Given the description of an element on the screen output the (x, y) to click on. 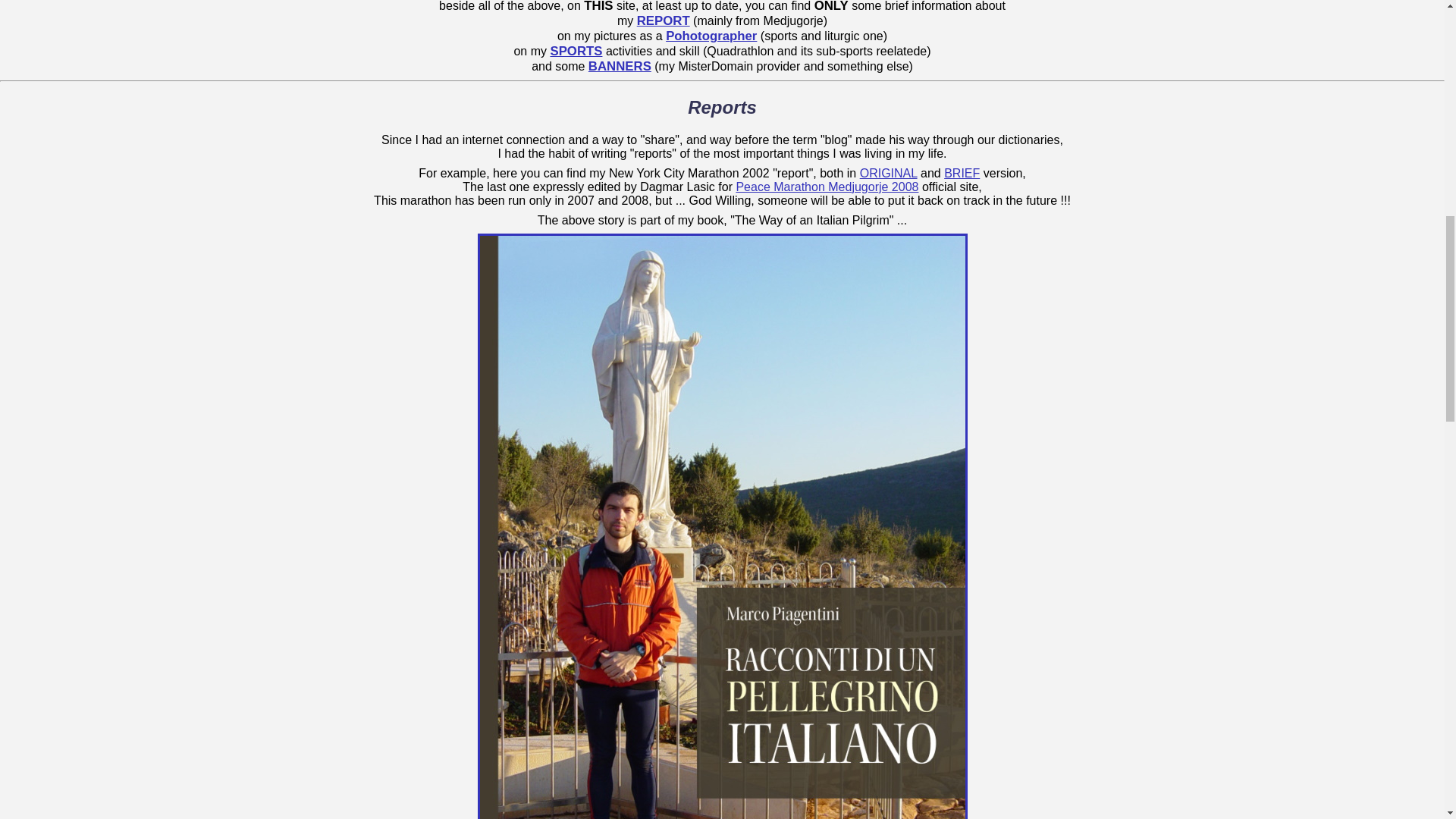
ORIGINAL (888, 173)
Pohotographer (711, 35)
BRIEF (961, 173)
SPORTS (576, 51)
REPORT (663, 20)
Peace Marathon Medjugorje 2008 (826, 186)
Reports (722, 107)
BANNERS (619, 65)
